Given the description of an element on the screen output the (x, y) to click on. 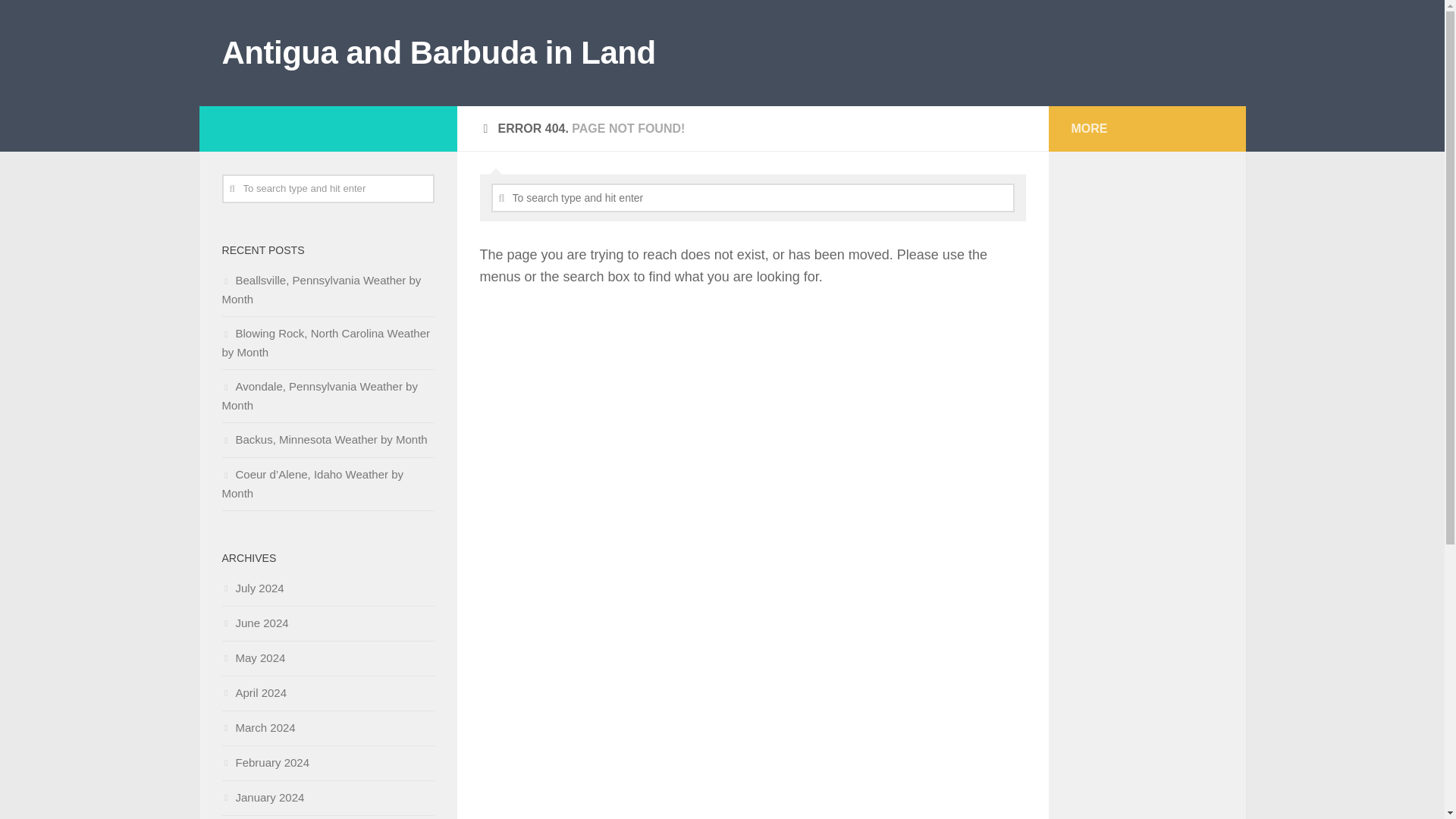
To search type and hit enter (327, 188)
January 2024 (262, 797)
March 2024 (258, 727)
To search type and hit enter (753, 197)
Beallsville, Pennsylvania Weather by Month (320, 289)
February 2024 (264, 762)
Avondale, Pennsylvania Weather by Month (318, 395)
April 2024 (253, 692)
July 2024 (252, 587)
Backus, Minnesota Weather by Month (323, 439)
